Given the description of an element on the screen output the (x, y) to click on. 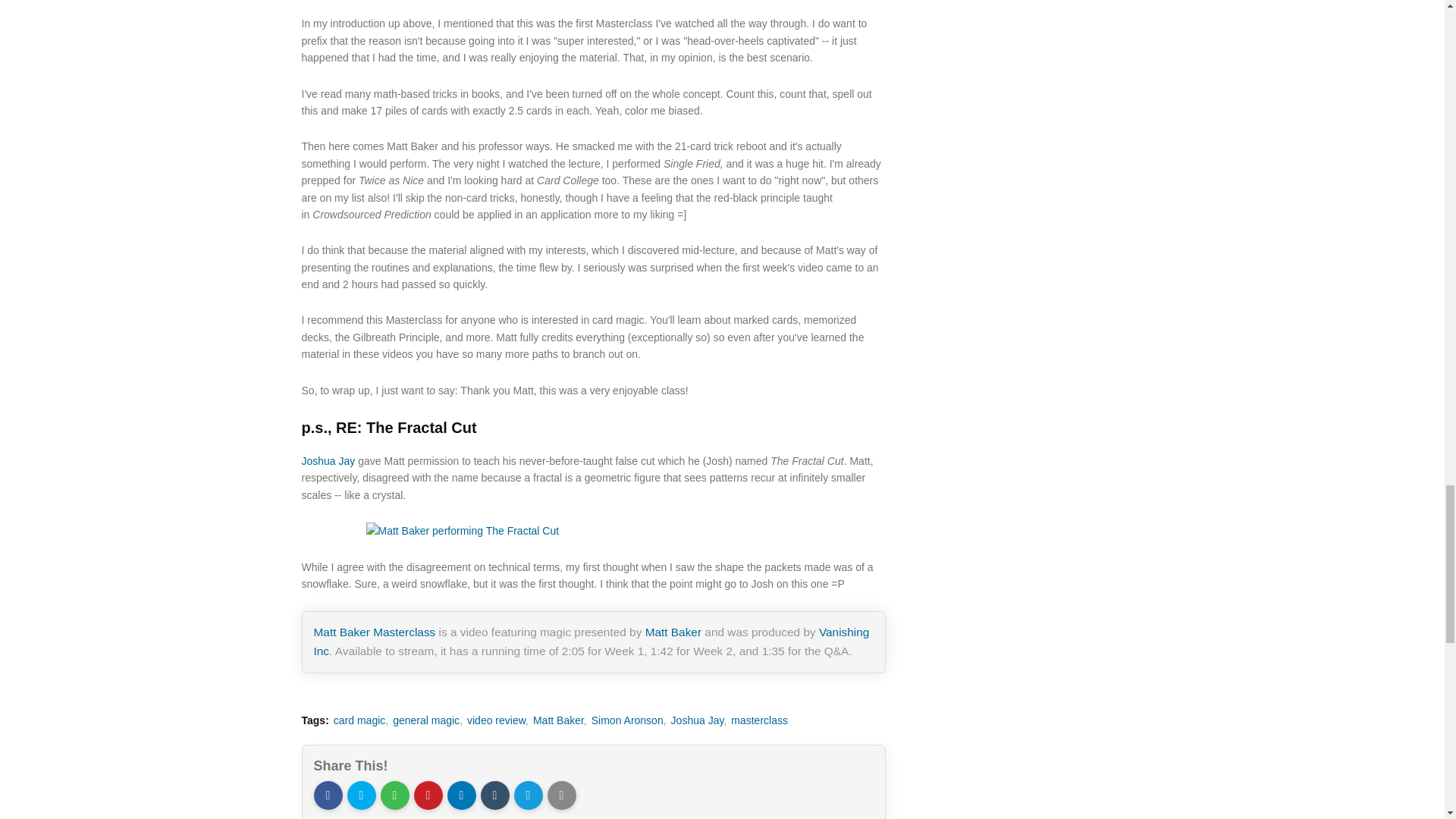
Twitter (361, 795)
Facebook (328, 795)
Matt Baker (559, 719)
Matt Baker (673, 631)
Vanishing Inc (591, 641)
Matt Baker Masterclass (374, 631)
Joshua Jay (698, 719)
Joshua Jay (328, 460)
Joshua Jay (328, 460)
WhatsApp (394, 795)
